Given the description of an element on the screen output the (x, y) to click on. 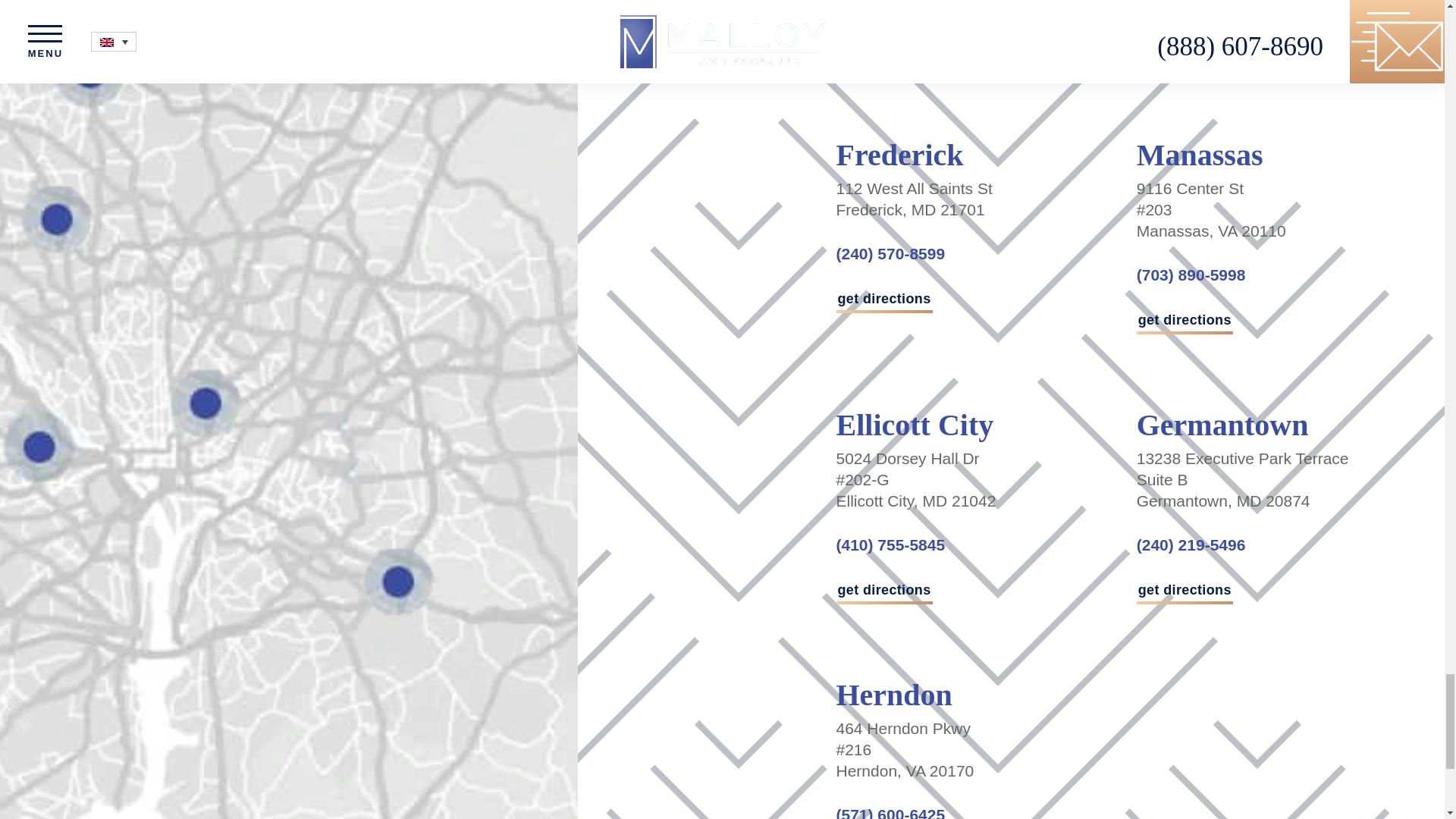
Call us (1191, 544)
Call us (1191, 274)
Call us (889, 6)
Call us (889, 544)
Call us (1191, 6)
Call us (889, 812)
Call us (889, 253)
